Given the description of an element on the screen output the (x, y) to click on. 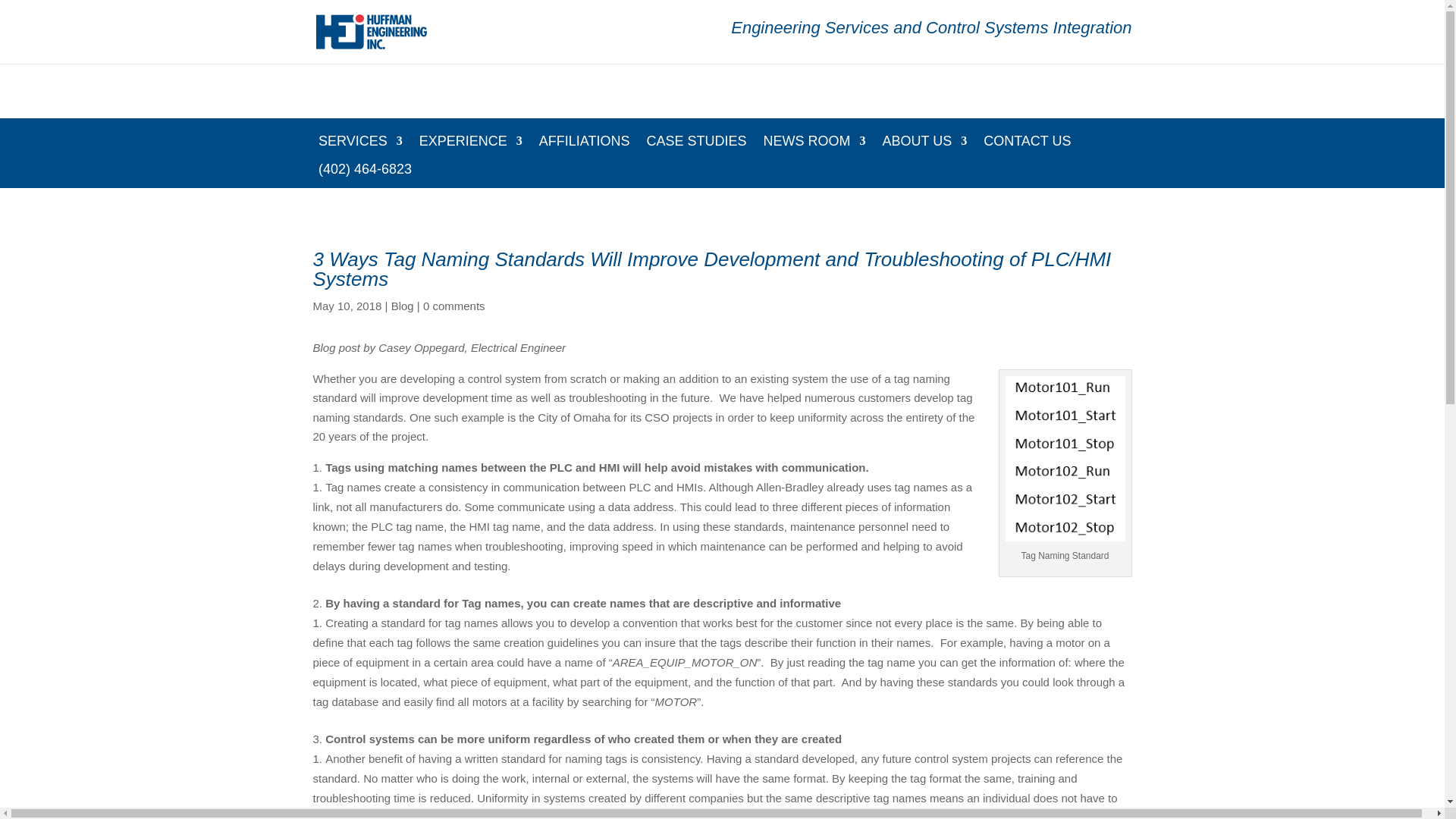
Engineering Services and Control Systems Integration (930, 41)
NEWS ROOM (813, 147)
AFFILIATIONS (584, 147)
CASE STUDIES (695, 147)
EXPERIENCE (470, 147)
ABOUT US (924, 147)
CONTACT US (1027, 147)
SERVICES (360, 147)
